Given the description of an element on the screen output the (x, y) to click on. 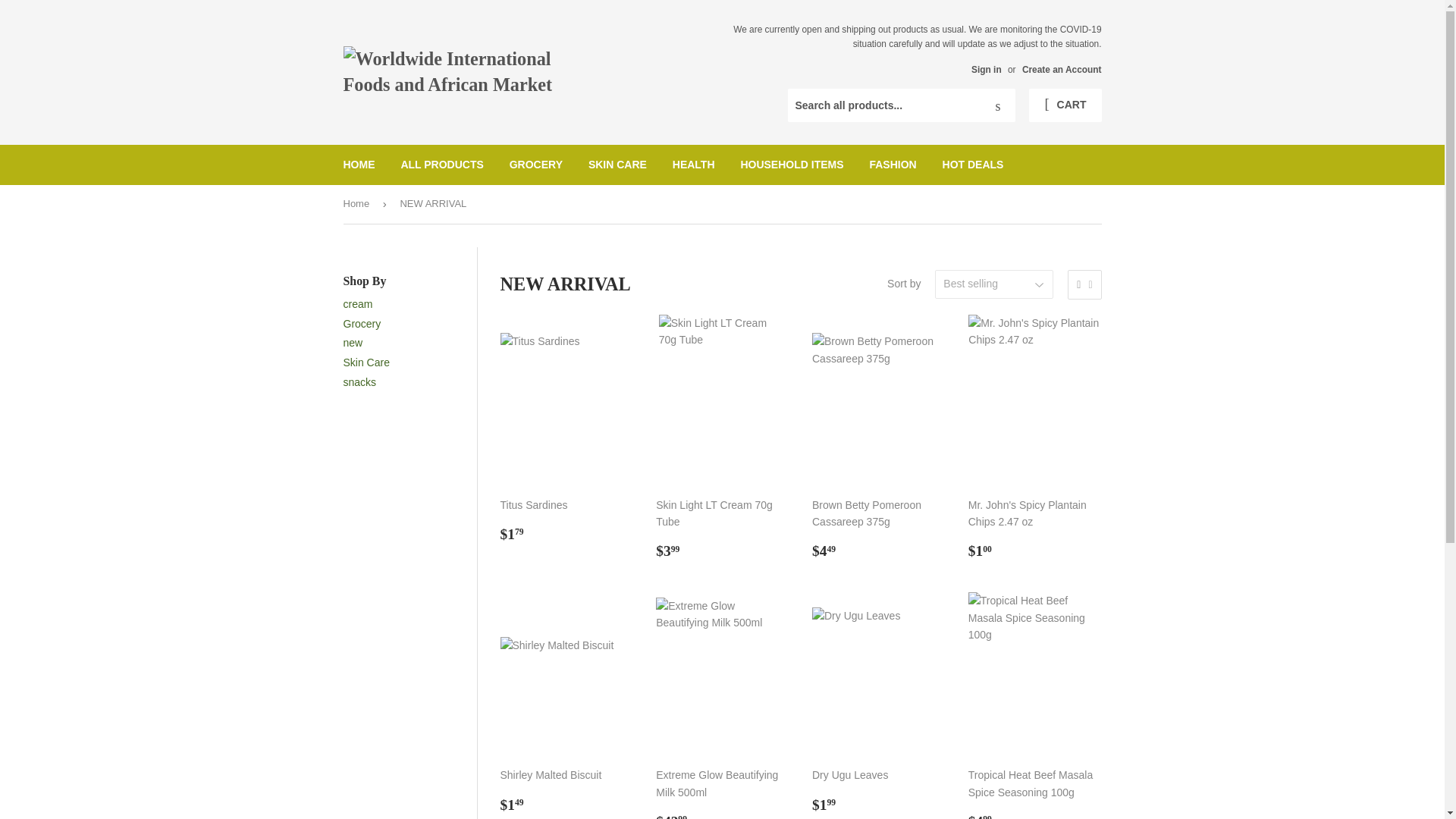
Show products matching tag Skin Care (365, 362)
Show products matching tag new (352, 342)
HOUSEHOLD ITEMS (791, 164)
Show products matching tag Grocery (361, 323)
ALL PRODUCTS (441, 164)
HOT DEALS (972, 164)
cream (357, 304)
Create an Account (1062, 69)
Show products matching tag snacks (358, 381)
Show products matching tag cream (357, 304)
Search (997, 106)
CART (1064, 105)
Sign in (986, 69)
snacks (358, 381)
HEALTH (693, 164)
